Given the description of an element on the screen output the (x, y) to click on. 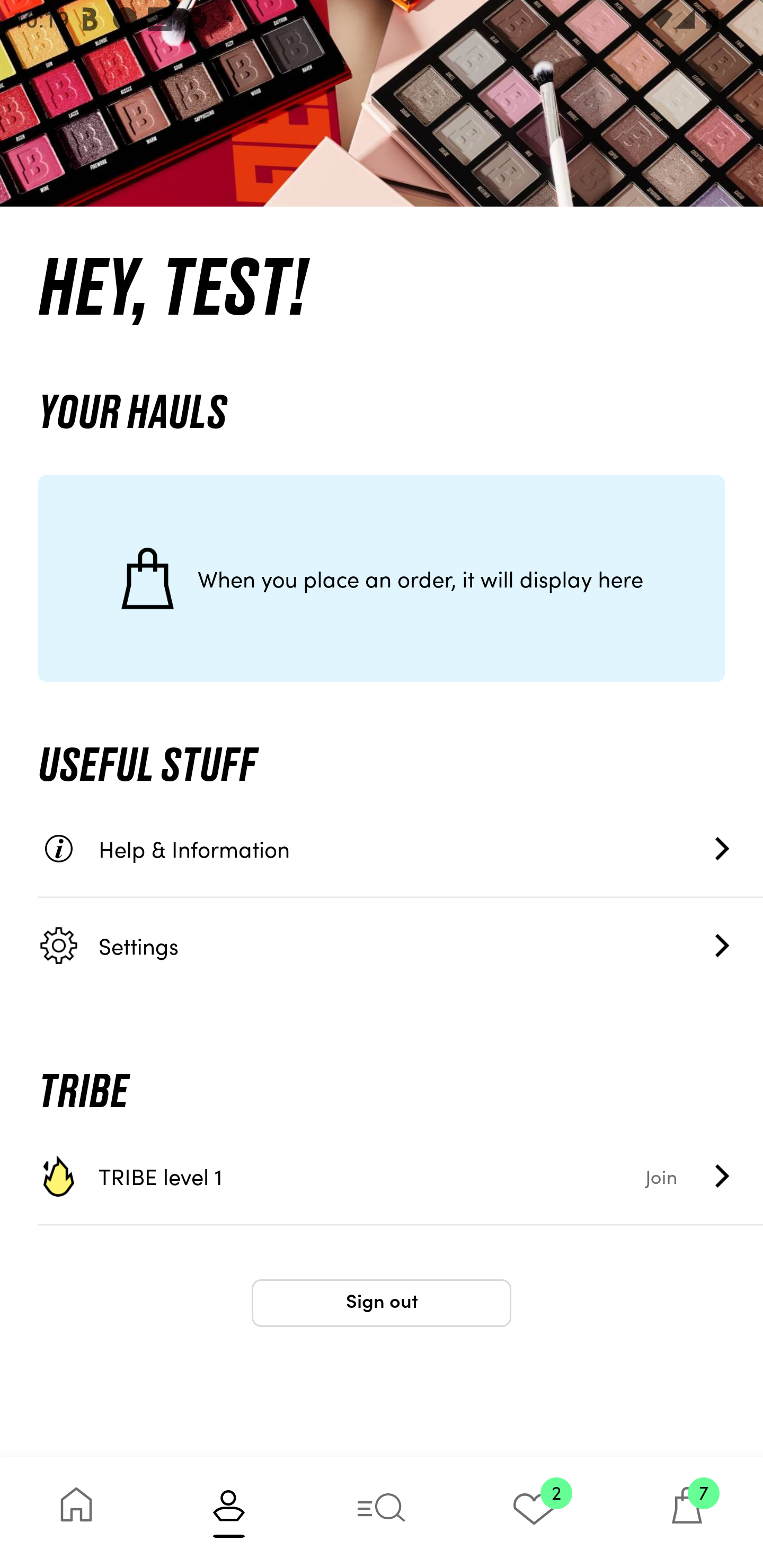
Help & Information (400, 848)
Settings (400, 945)
TRIBE level 1 Join (400, 1175)
Sign out (381, 1302)
2 (533, 1512)
7 (686, 1512)
